Given the description of an element on the screen output the (x, y) to click on. 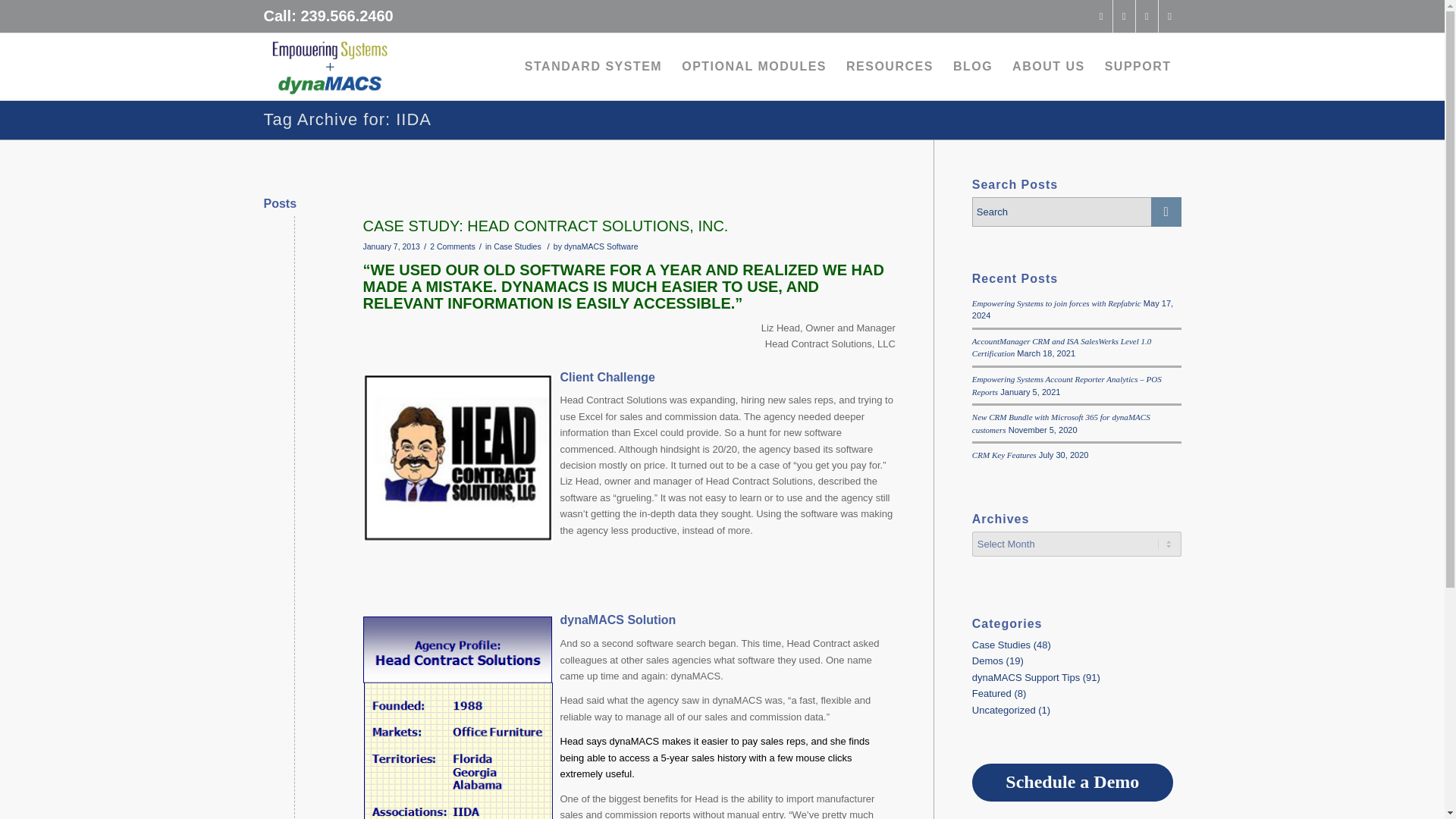
RESOURCES (889, 66)
Posts by dynaMACS Software (601, 245)
SUPPORT (1137, 66)
ABOUT US (1048, 66)
STANDARD SYSTEM (593, 66)
Permanent Link: Case Study:  Head Contract Solutions, Inc. (545, 225)
OPTIONAL MODULES (753, 66)
Permanent Link: Tag Archive for: IIDA (347, 118)
